Given the description of an element on the screen output the (x, y) to click on. 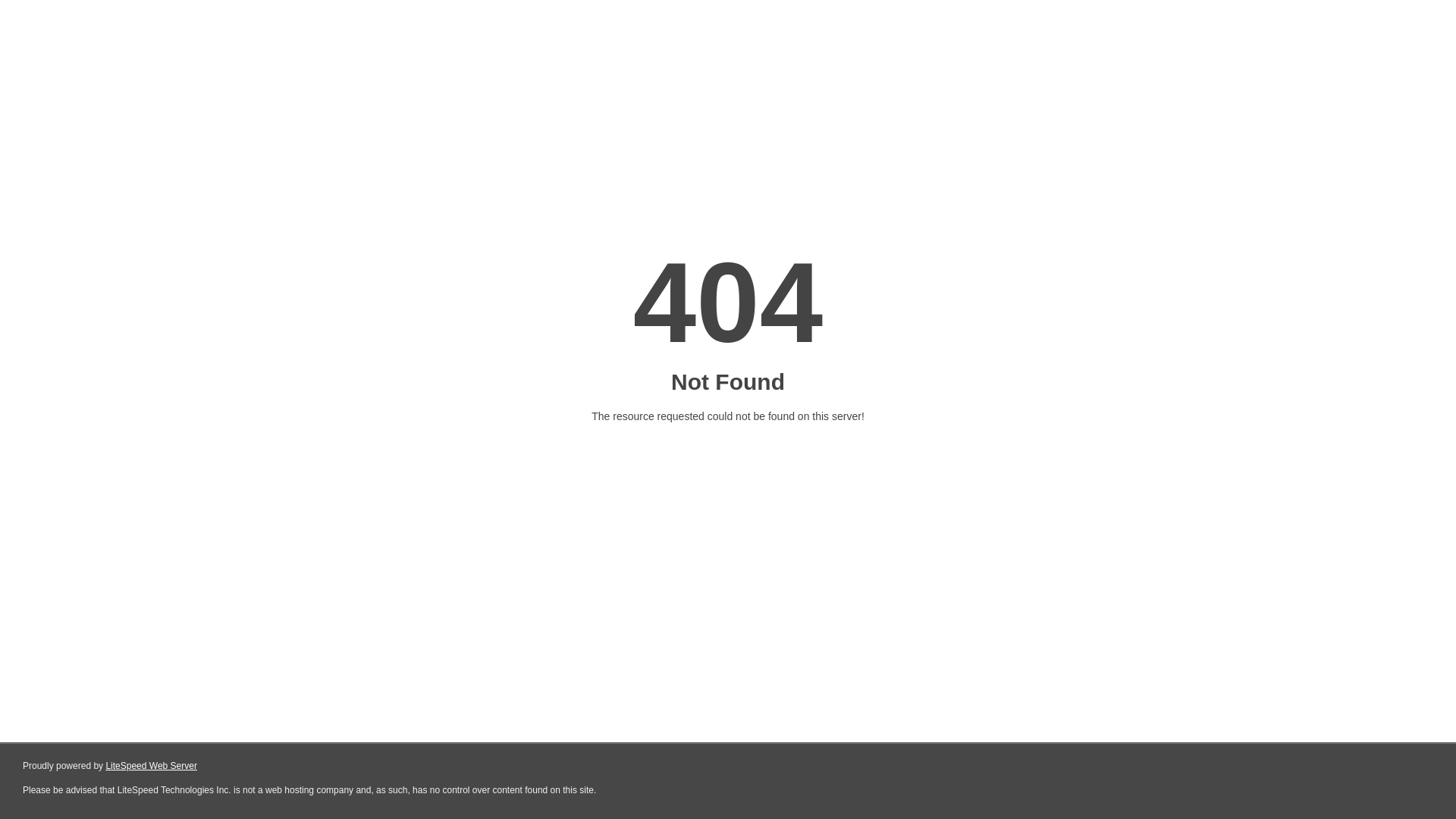
LiteSpeed Web Server Element type: text (151, 765)
